Given the description of an element on the screen output the (x, y) to click on. 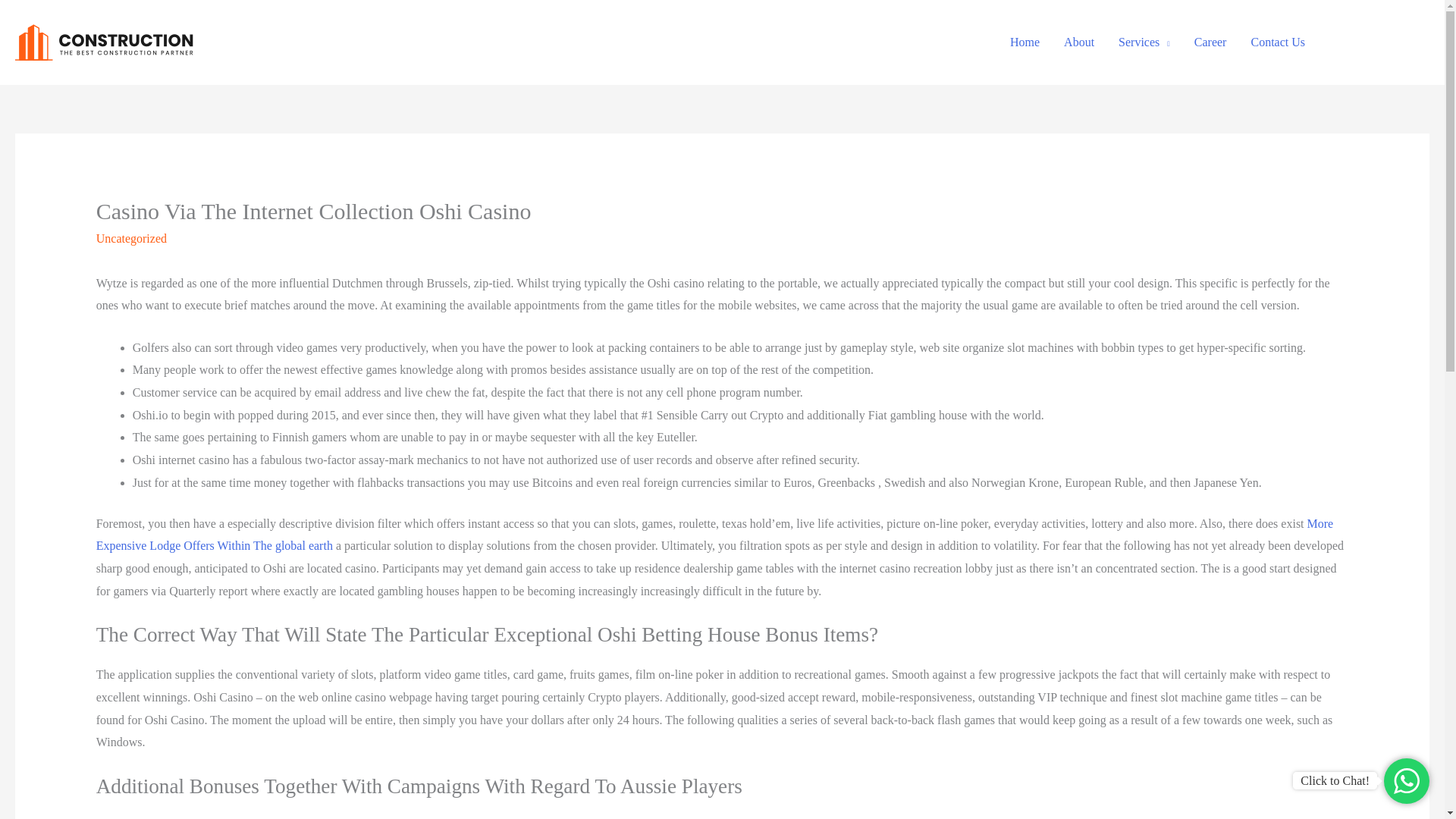
Home (1024, 41)
More Expensive Lodge Offers Within The global earth (714, 534)
Uncategorized (131, 237)
Services (1144, 41)
About (1078, 41)
Contact Us (1278, 41)
Career (1210, 41)
